Given the description of an element on the screen output the (x, y) to click on. 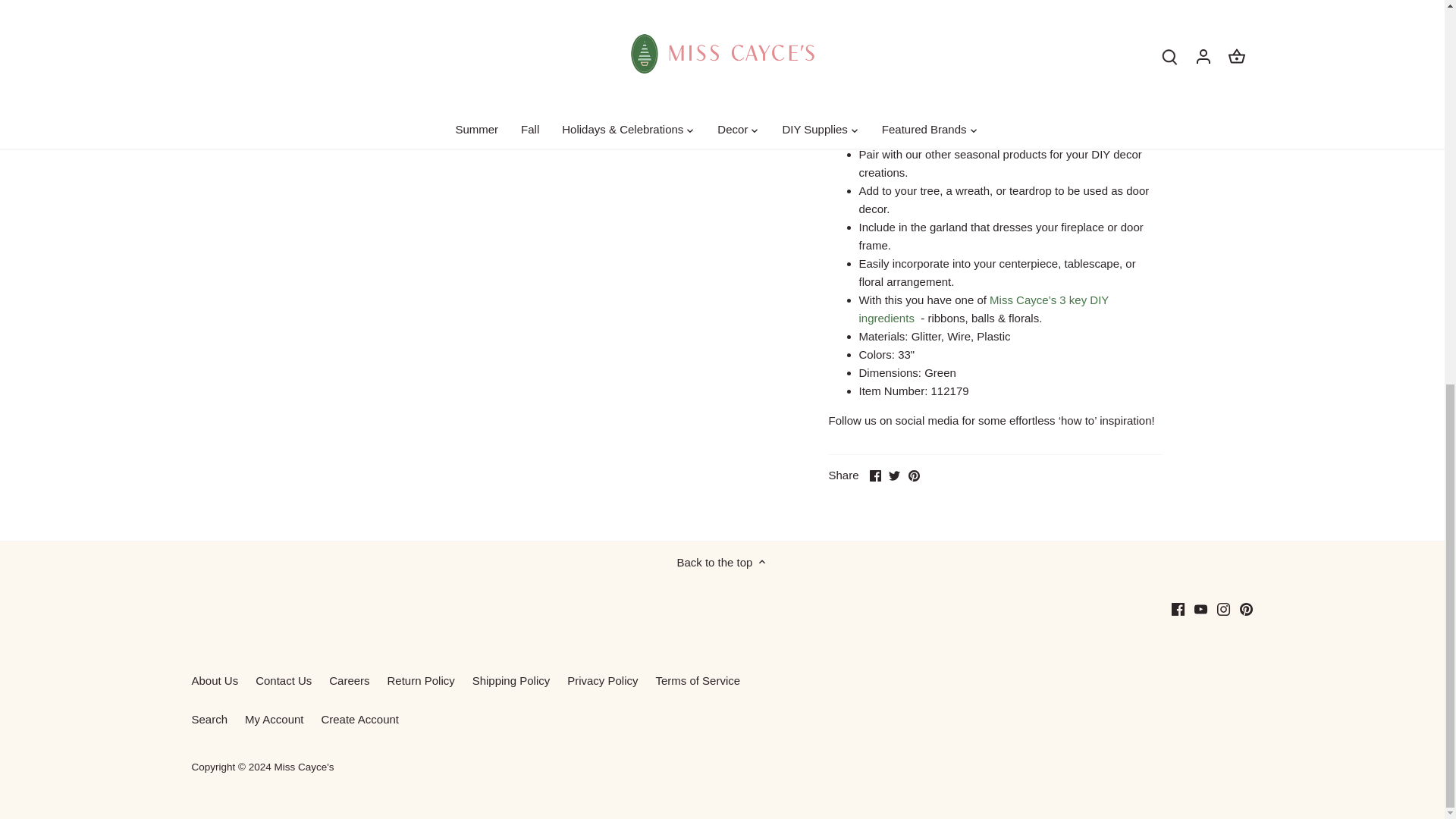
Facebook (1178, 608)
Pinterest (914, 475)
Twitter (893, 475)
Youtube (1200, 608)
Facebook (874, 475)
